Given the description of an element on the screen output the (x, y) to click on. 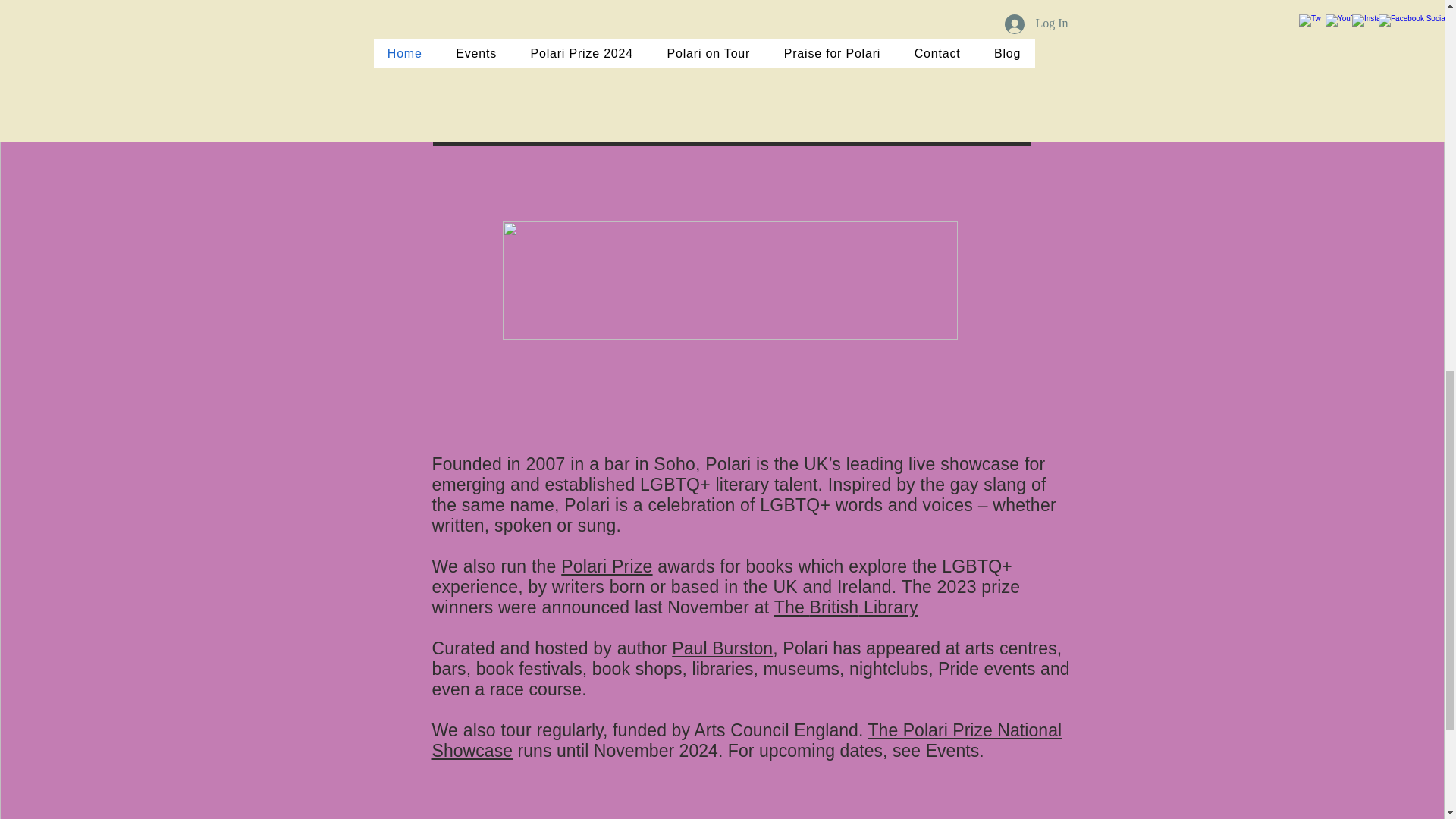
ArtsCouncilLogo.jpg (729, 280)
Paul Burston (722, 648)
The British Library (846, 607)
Polari Prize (606, 566)
The Polari Prize National Showcase (747, 740)
